Given the description of an element on the screen output the (x, y) to click on. 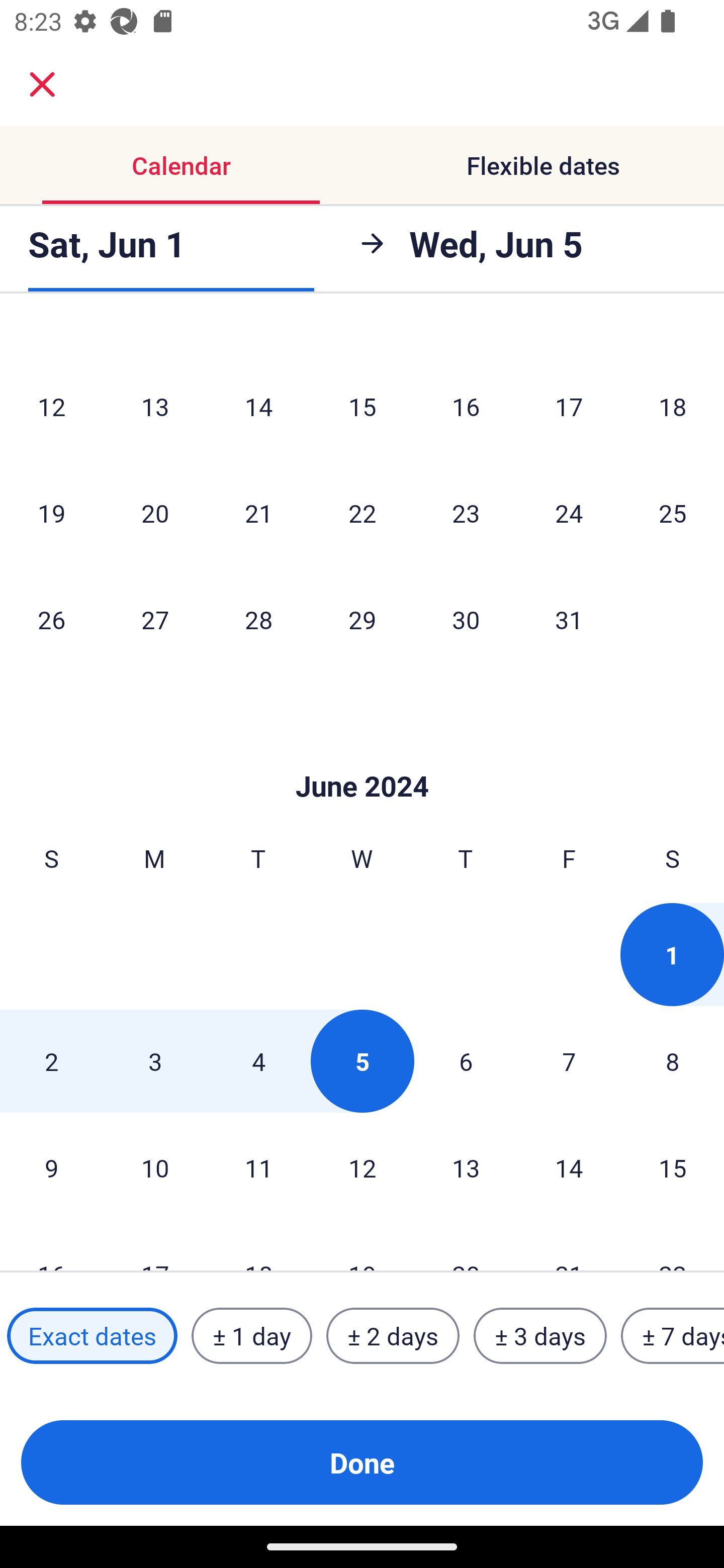
close. (42, 84)
Flexible dates (542, 164)
12 Sunday, May 12, 2024 (51, 405)
13 Monday, May 13, 2024 (155, 405)
14 Tuesday, May 14, 2024 (258, 405)
15 Wednesday, May 15, 2024 (362, 405)
16 Thursday, May 16, 2024 (465, 405)
17 Friday, May 17, 2024 (569, 405)
18 Saturday, May 18, 2024 (672, 405)
19 Sunday, May 19, 2024 (51, 512)
20 Monday, May 20, 2024 (155, 512)
21 Tuesday, May 21, 2024 (258, 512)
22 Wednesday, May 22, 2024 (362, 512)
23 Thursday, May 23, 2024 (465, 512)
24 Friday, May 24, 2024 (569, 512)
25 Saturday, May 25, 2024 (672, 512)
26 Sunday, May 26, 2024 (51, 619)
27 Monday, May 27, 2024 (155, 619)
28 Tuesday, May 28, 2024 (258, 619)
29 Wednesday, May 29, 2024 (362, 619)
30 Thursday, May 30, 2024 (465, 619)
31 Friday, May 31, 2024 (569, 619)
Skip to Done (362, 755)
6 Thursday, June 6, 2024 (465, 1061)
7 Friday, June 7, 2024 (569, 1061)
8 Saturday, June 8, 2024 (672, 1061)
9 Sunday, June 9, 2024 (51, 1167)
10 Monday, June 10, 2024 (155, 1167)
11 Tuesday, June 11, 2024 (258, 1167)
12 Wednesday, June 12, 2024 (362, 1167)
13 Thursday, June 13, 2024 (465, 1167)
14 Friday, June 14, 2024 (569, 1167)
15 Saturday, June 15, 2024 (672, 1167)
Exact dates (92, 1335)
± 1 day (251, 1335)
± 2 days (392, 1335)
± 3 days (539, 1335)
± 7 days (672, 1335)
Done (361, 1462)
